Given the description of an element on the screen output the (x, y) to click on. 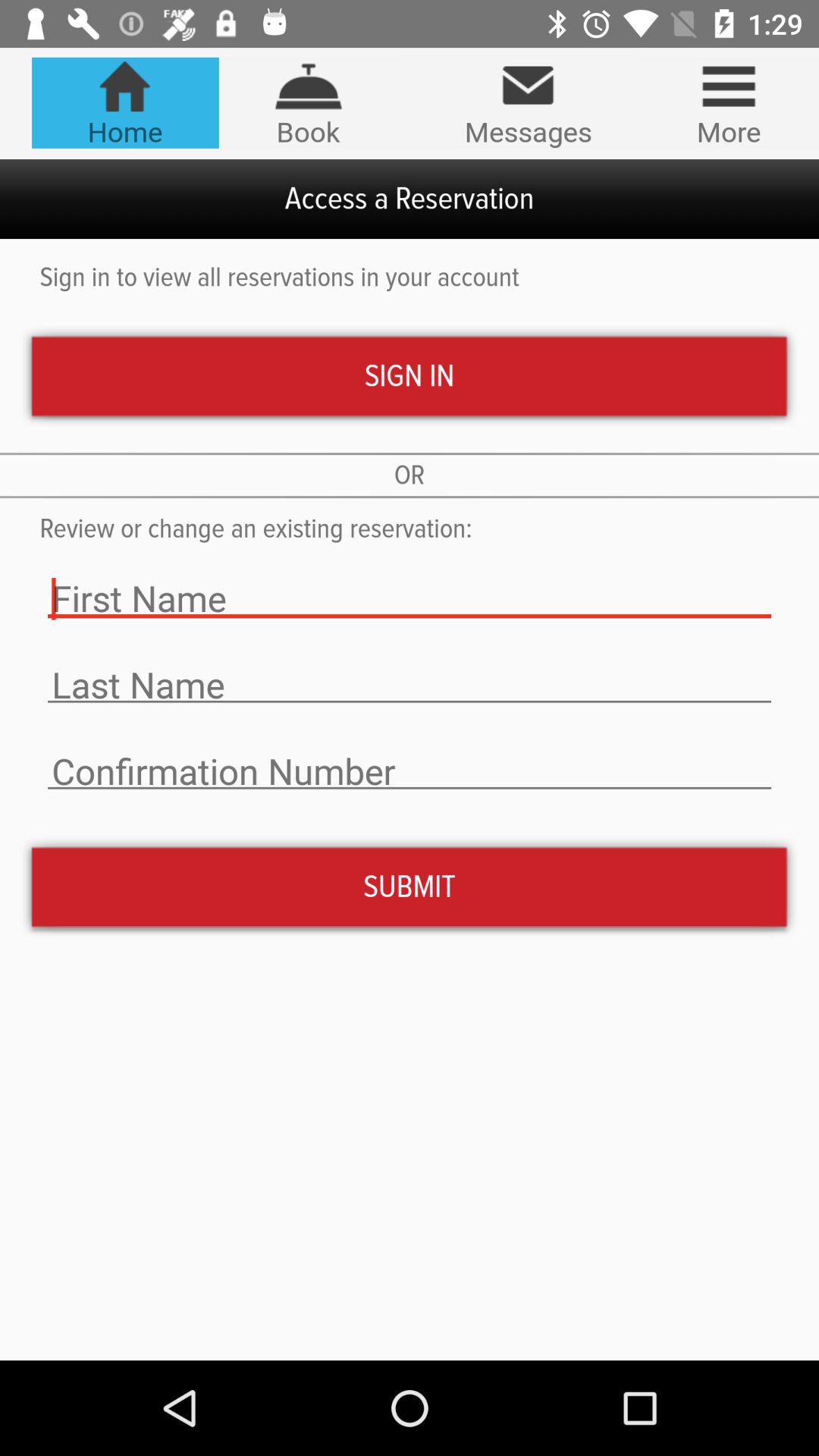
enter your last name (409, 685)
